Given the description of an element on the screen output the (x, y) to click on. 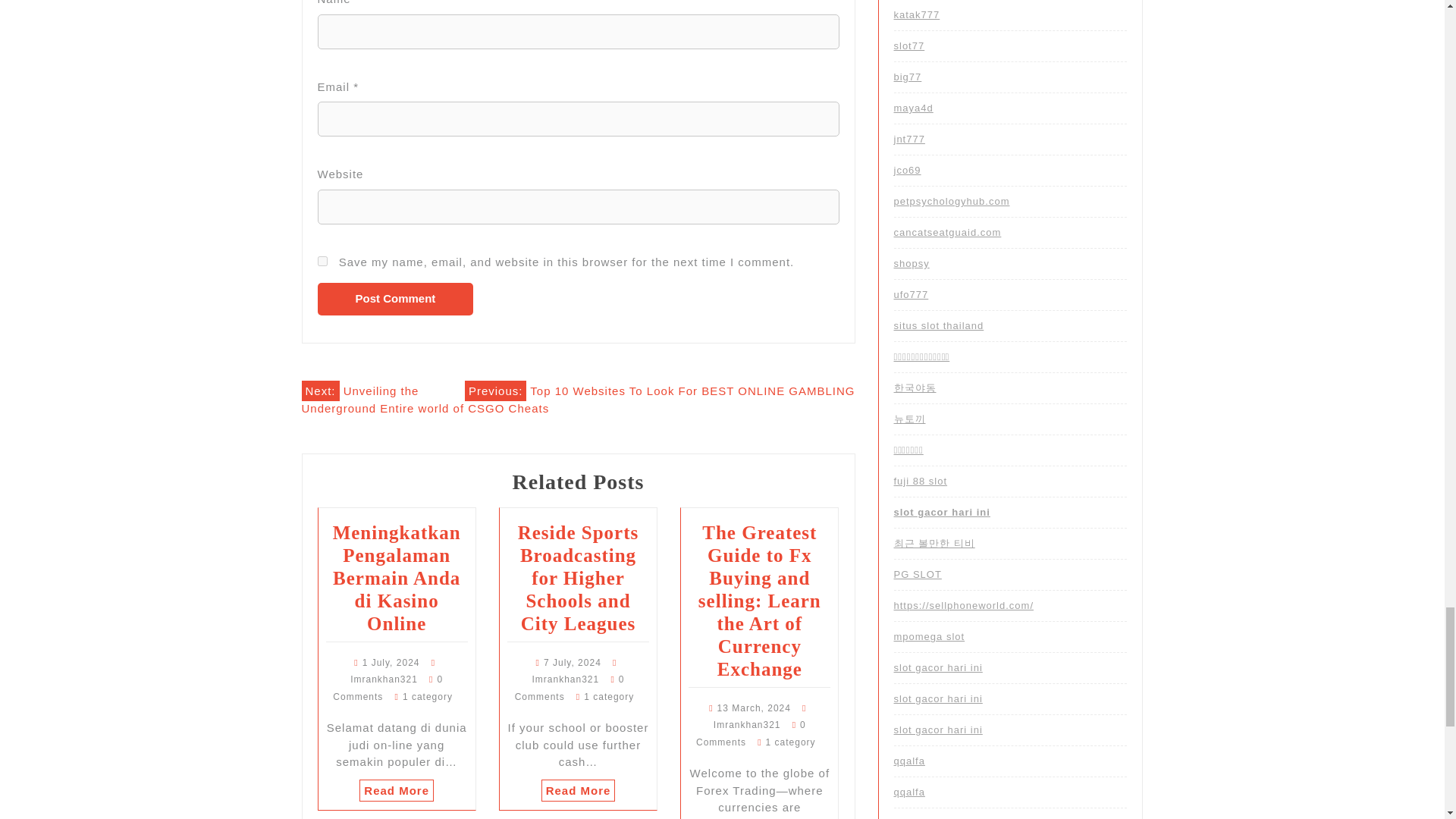
Read More (578, 790)
Meningkatkan Pengalaman Bermain Anda di Kasino Online (397, 577)
Meningkatkan Pengalaman Bermain Anda di Kasino Online (397, 577)
Post Comment (395, 298)
Next: Unveiling the Underground Entire world of CSGO Cheats (425, 397)
Read More (578, 790)
Read More (396, 790)
Post Comment (395, 298)
